Given the description of an element on the screen output the (x, y) to click on. 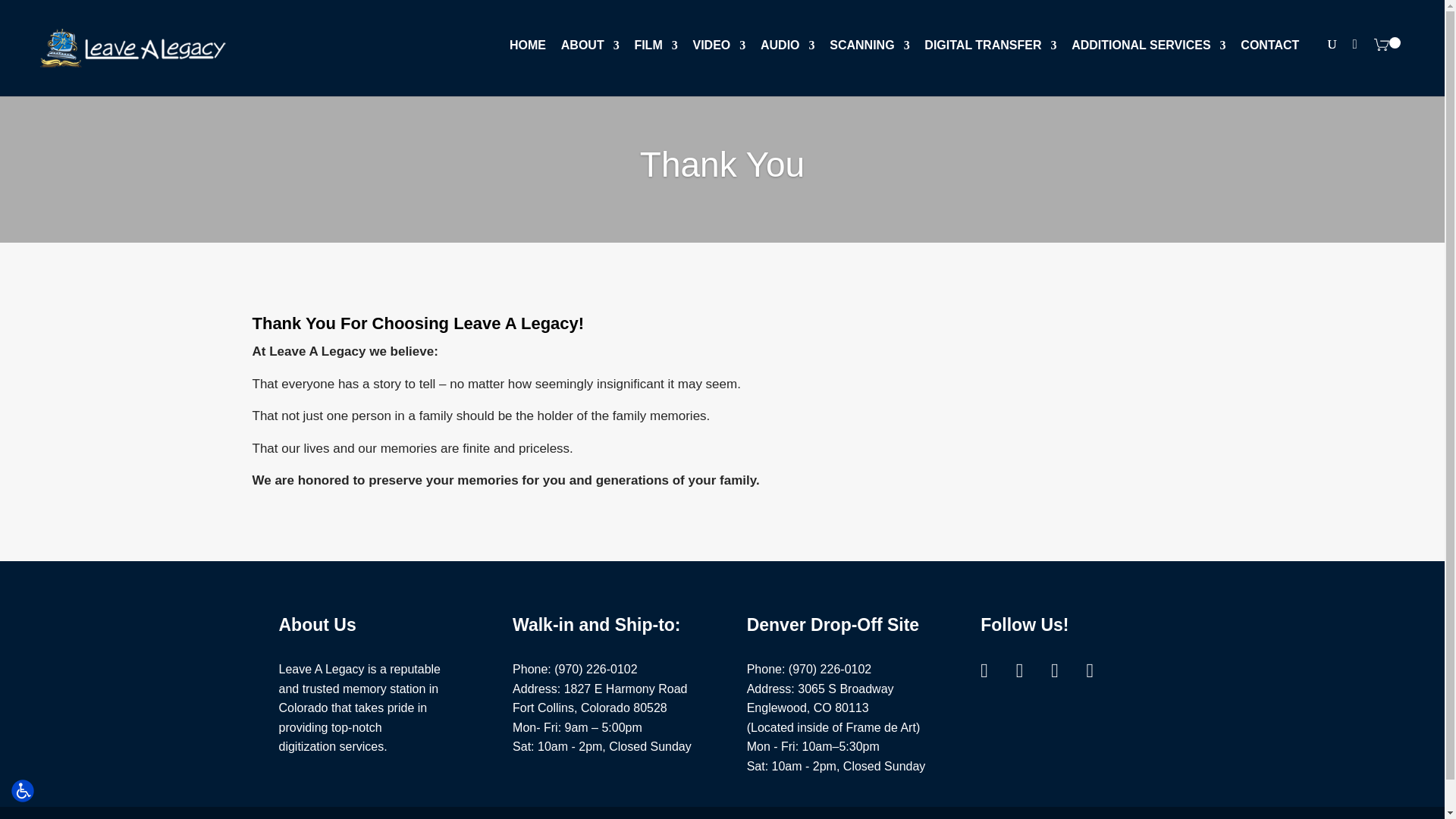
ABOUT (590, 53)
Follow Us on Instagram (1029, 670)
Follow Us on Linkedin (1099, 670)
FILM (655, 53)
VIDEO (719, 53)
HOME (527, 53)
AUDIO (787, 53)
Follow Us on Instagram (1064, 670)
Follow us on Facebook (993, 670)
